Given the description of an element on the screen output the (x, y) to click on. 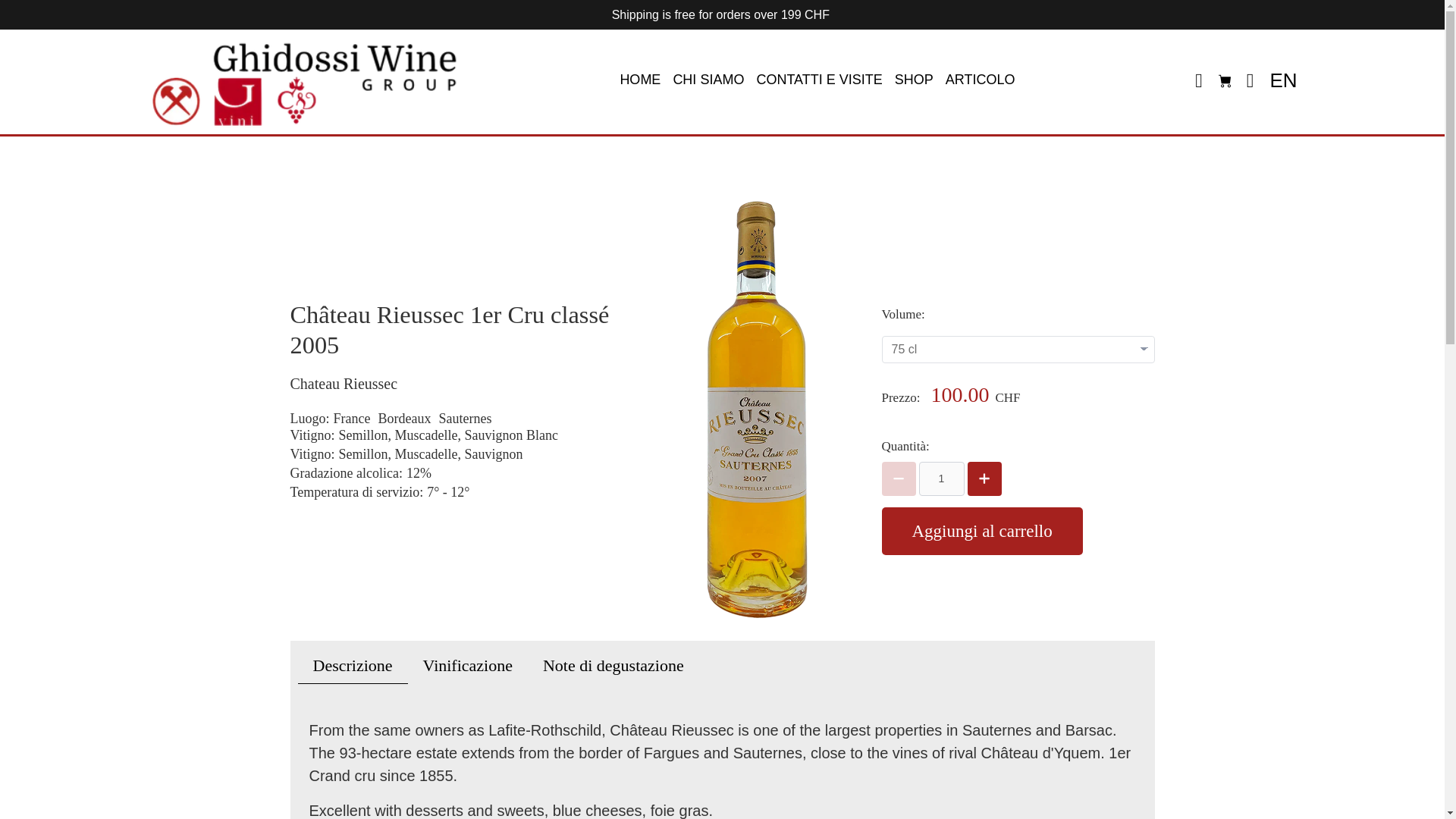
ARTICOLO (976, 80)
Note di degustazione (612, 665)
Aggiungi al carrello (980, 530)
Descrizione (352, 665)
HOME (638, 80)
Vinificazione (467, 665)
1 (940, 478)
CHI SIAMO (707, 80)
EN (1280, 80)
CONTATTI E VISITE (818, 80)
SHOP (913, 80)
